Given the description of an element on the screen output the (x, y) to click on. 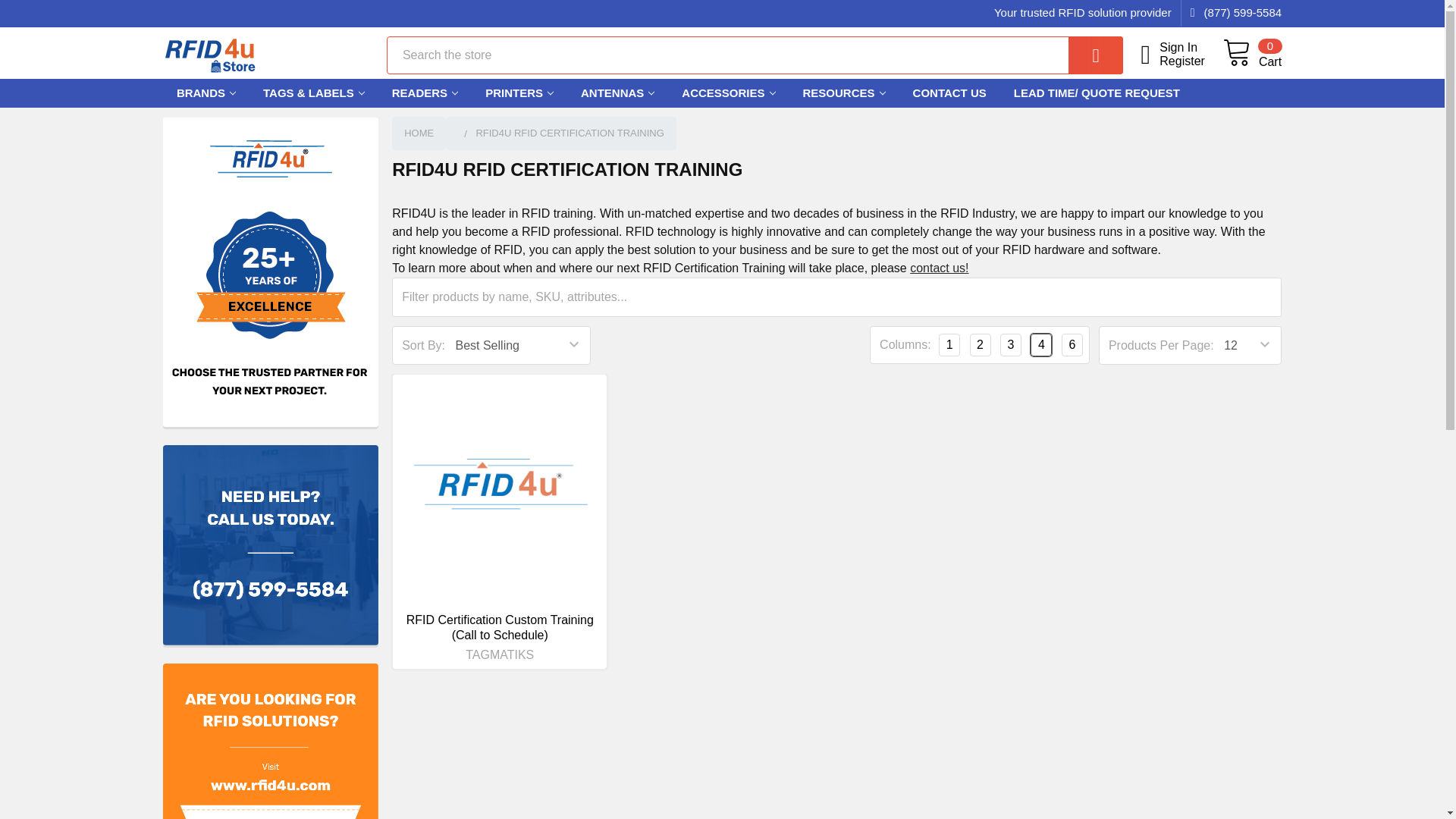
RFID4USTORE (210, 55)
6 (1071, 344)
3 (1010, 344)
READERS (424, 93)
RFID4U tollfree (270, 545)
BRANDS (205, 93)
Cart (1252, 54)
Search (1084, 55)
4 (1040, 344)
Sign In (1252, 54)
Register (1190, 47)
